Given the description of an element on the screen output the (x, y) to click on. 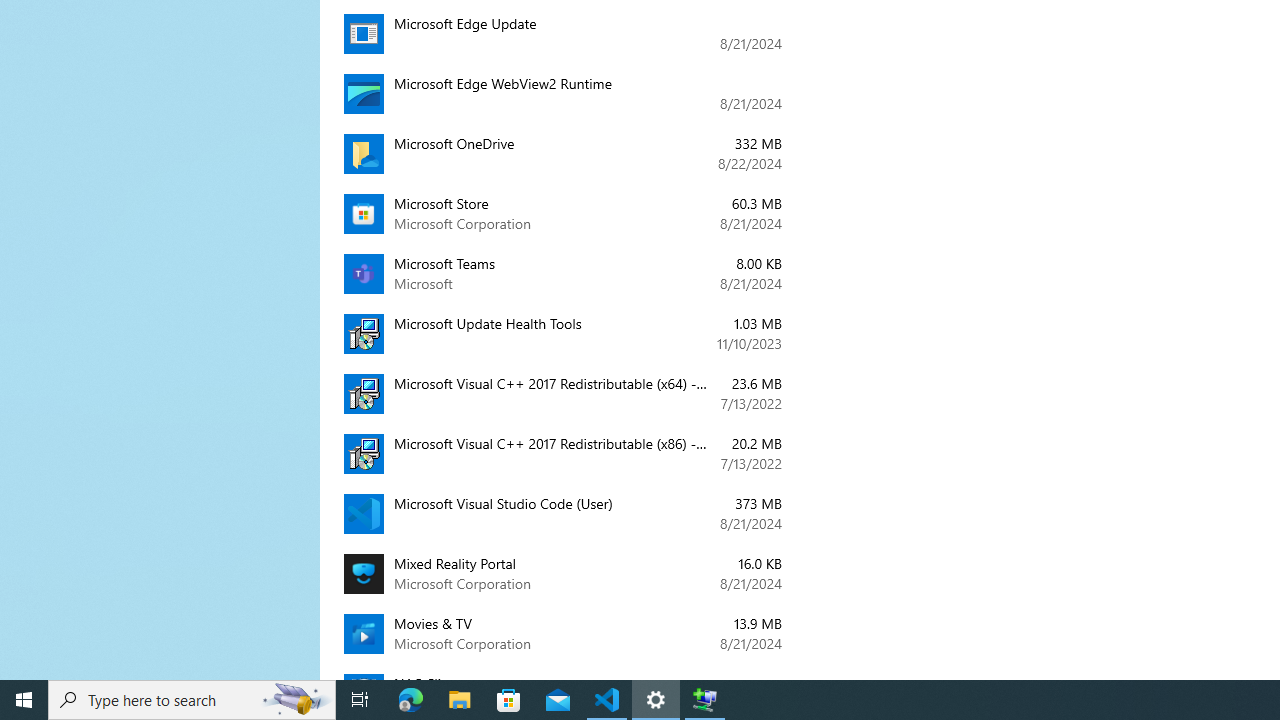
Extensible Wizards Host Process - 1 running window (704, 699)
